Given the description of an element on the screen output the (x, y) to click on. 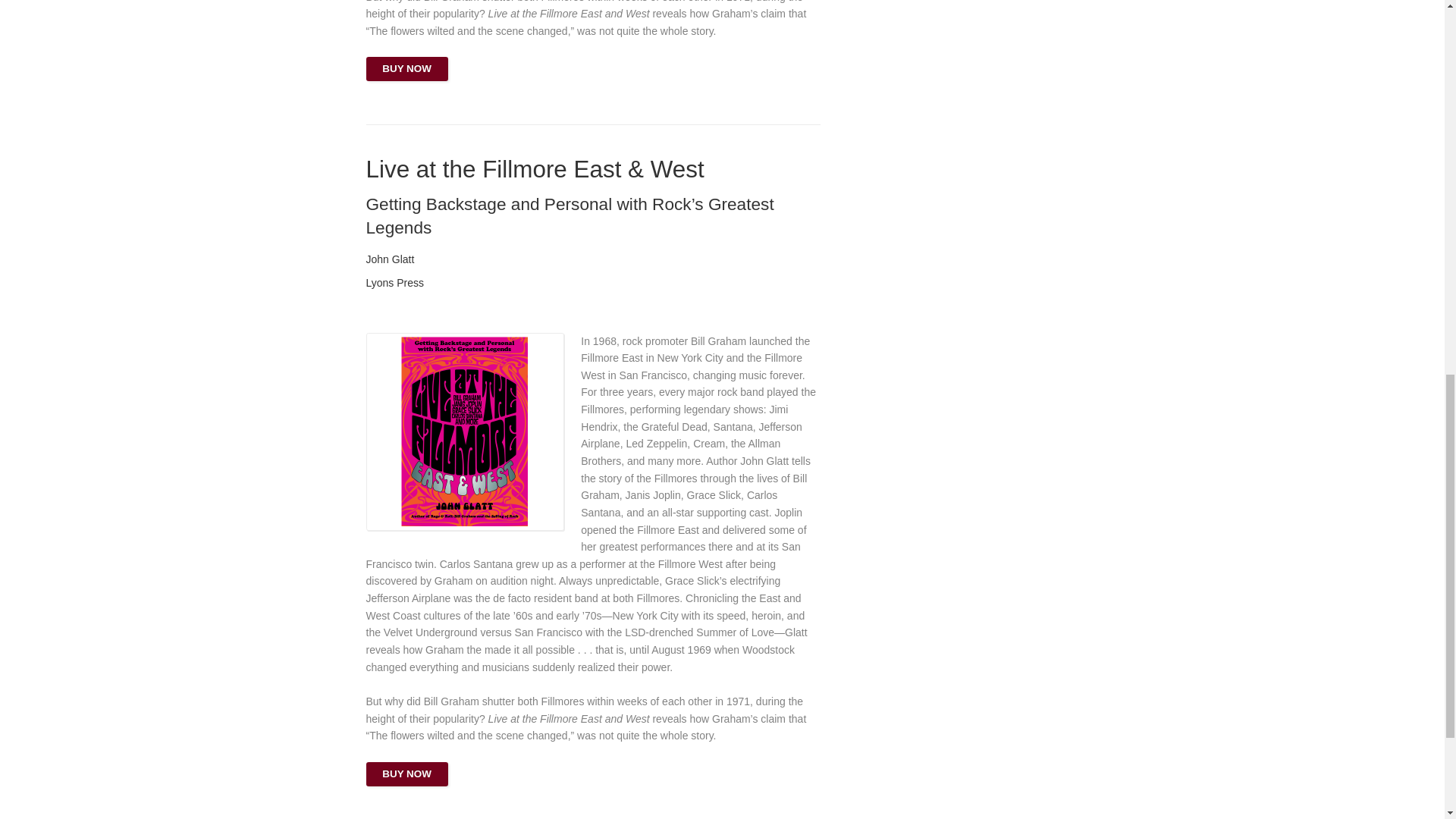
BUY NOW (405, 68)
BUY NOW (405, 774)
